Given the description of an element on the screen output the (x, y) to click on. 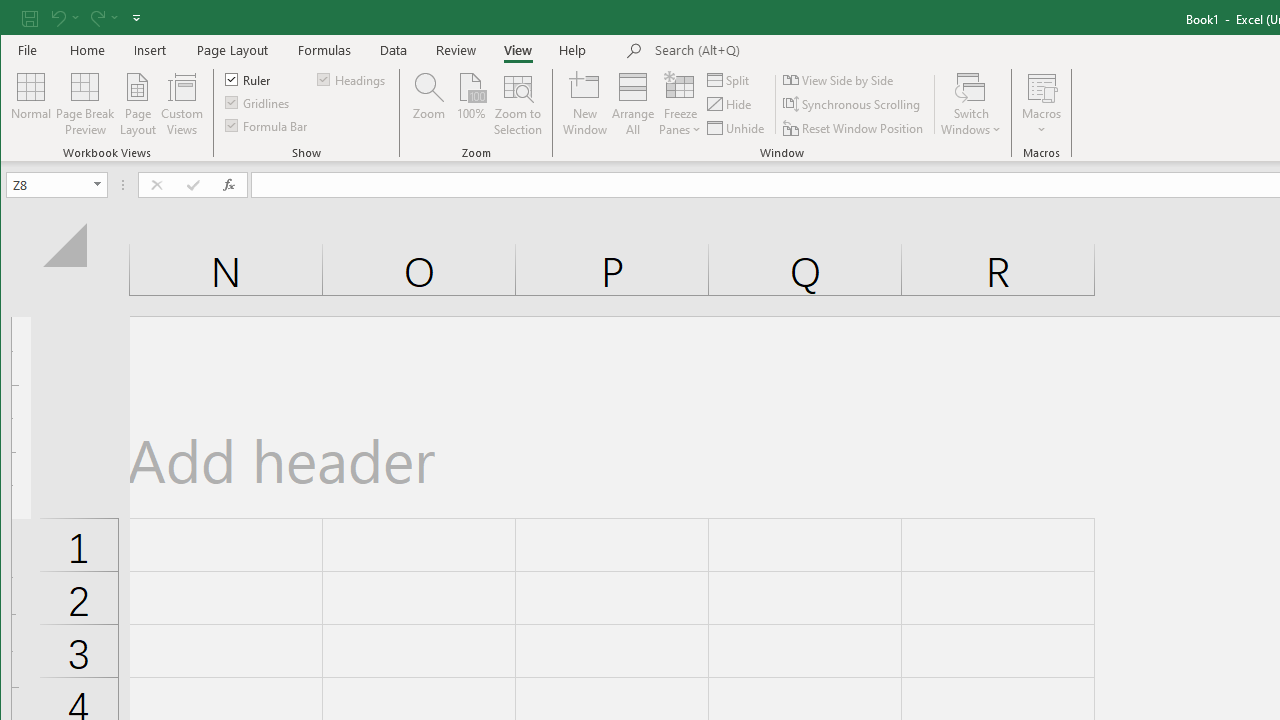
Arrange All (633, 104)
Macros (1041, 104)
